Given the description of an element on the screen output the (x, y) to click on. 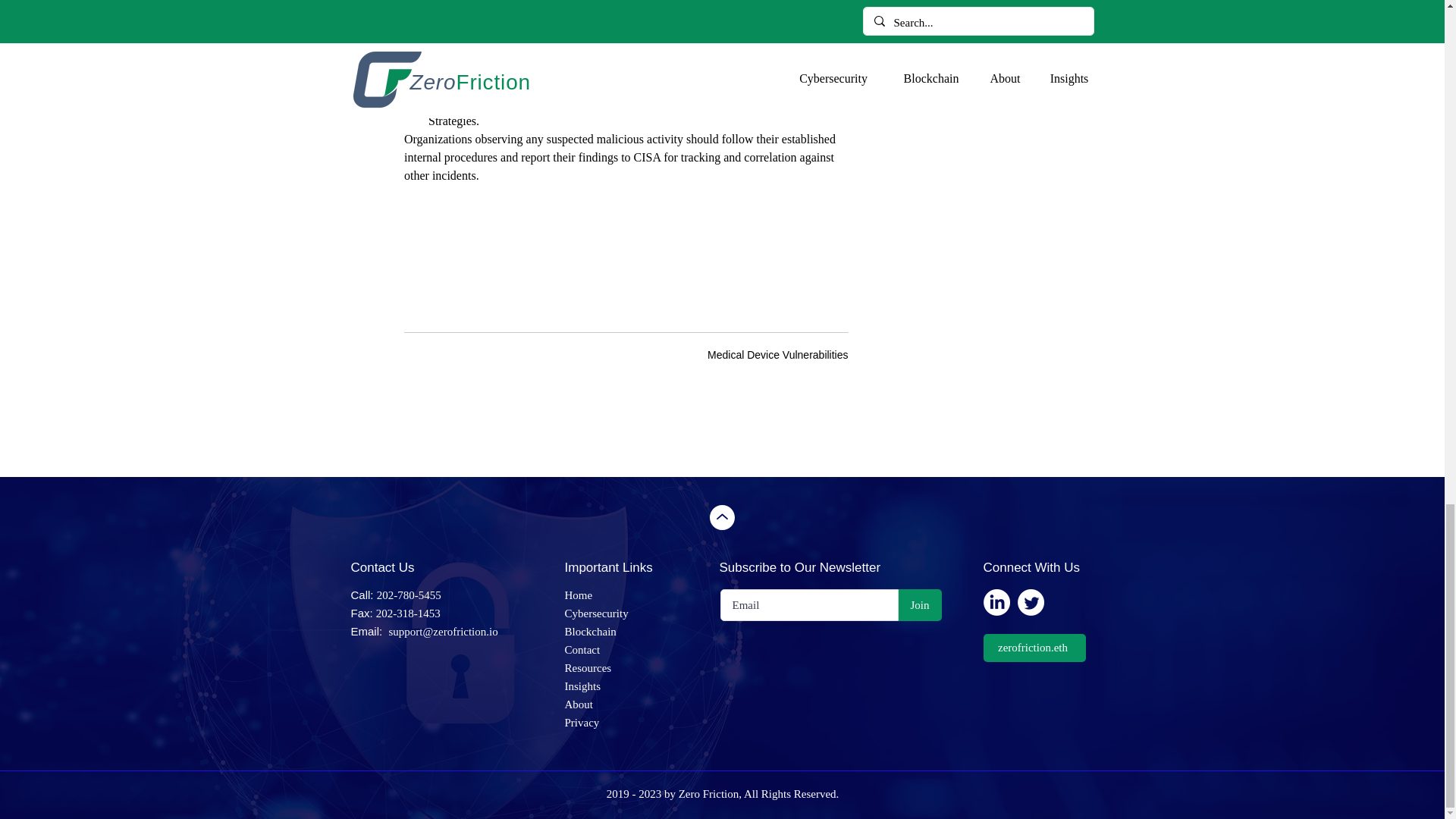
Contact (581, 649)
About (578, 704)
Cybersecurity (595, 613)
Medical Device Vulnerabilities (777, 354)
Privacy (581, 722)
Blockchain (589, 631)
Resources (587, 667)
Home (578, 594)
Join (919, 604)
Insights (581, 686)
